Given the description of an element on the screen output the (x, y) to click on. 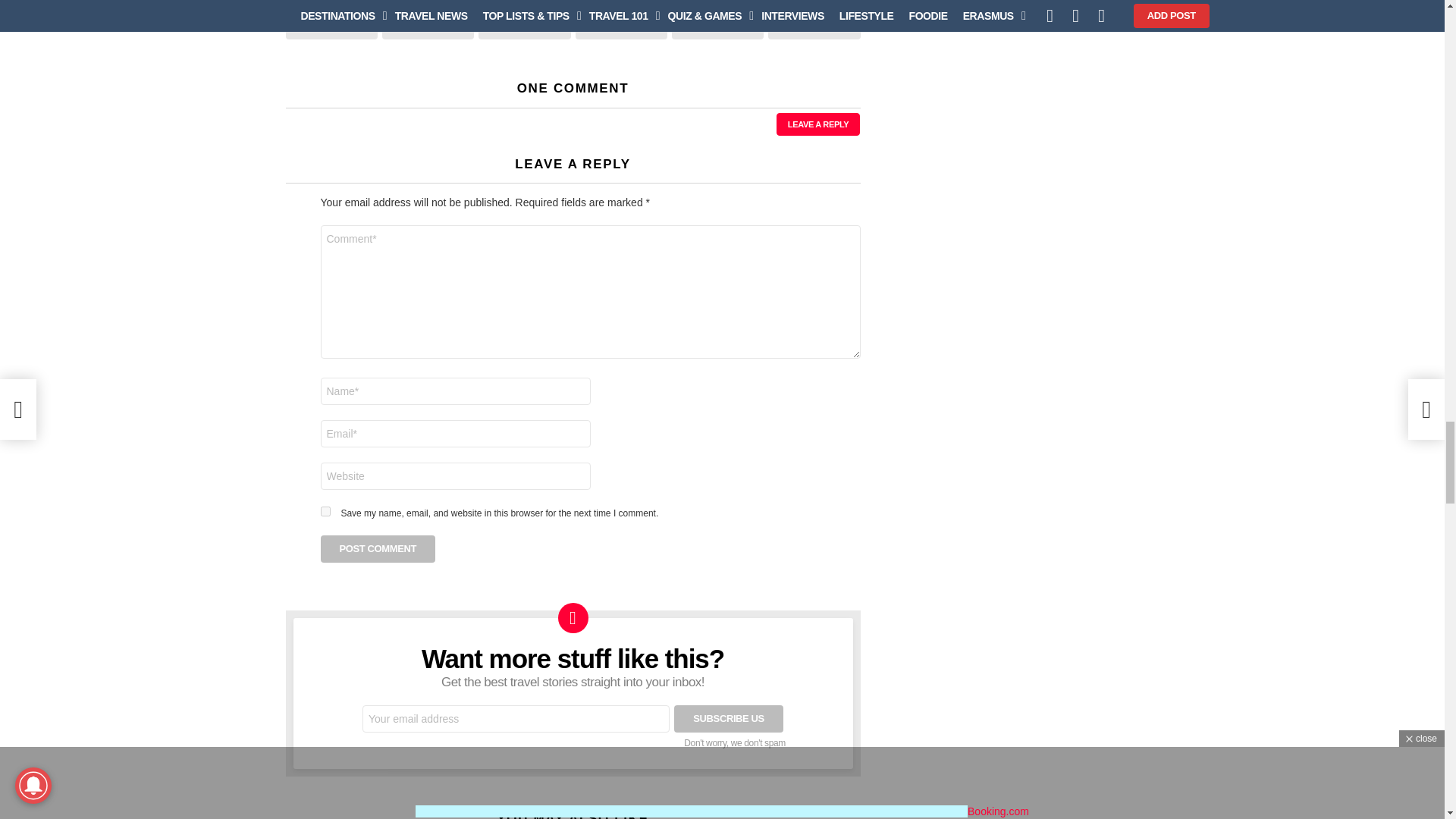
Post Comment (377, 548)
Subscribe us (728, 718)
yes (325, 511)
